Given the description of an element on the screen output the (x, y) to click on. 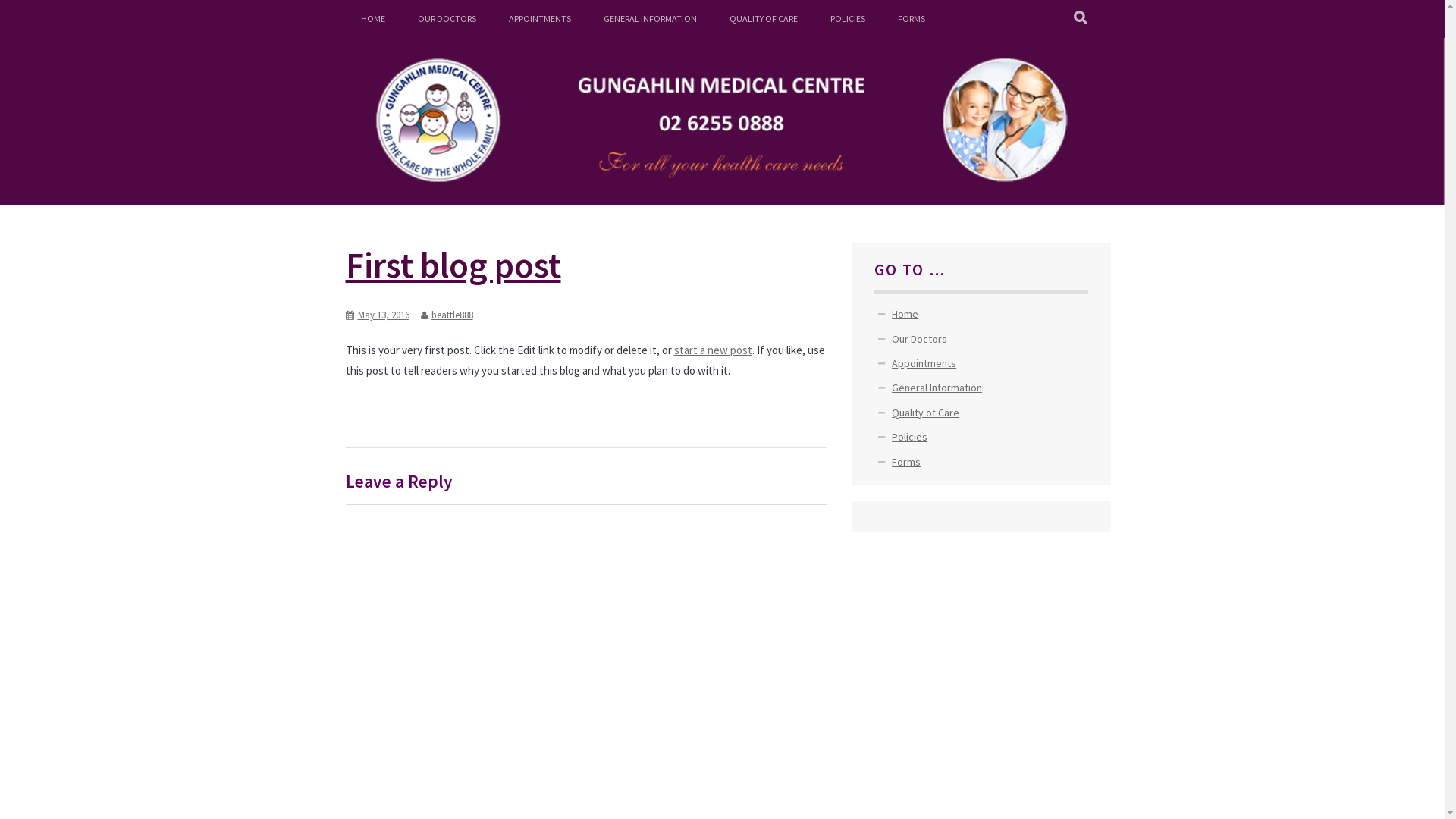
POLICIES Element type: text (846, 18)
Forms Element type: text (905, 461)
OUR DOCTORS Element type: text (445, 18)
First blog post Element type: text (453, 264)
Quality of Care Element type: text (925, 412)
HOME Element type: text (372, 18)
GENERAL INFORMATION Element type: text (650, 18)
FORMS Element type: text (911, 18)
Policies Element type: text (909, 436)
General Information Element type: text (936, 387)
Our Doctors Element type: text (919, 338)
APPOINTMENTS Element type: text (538, 18)
start a new post Element type: text (712, 349)
May 13, 2016 Element type: text (383, 314)
Home Element type: text (904, 313)
beattle888 Element type: text (451, 314)
Appointments Element type: text (923, 363)
QUALITY OF CARE Element type: text (763, 18)
